Given the description of an element on the screen output the (x, y) to click on. 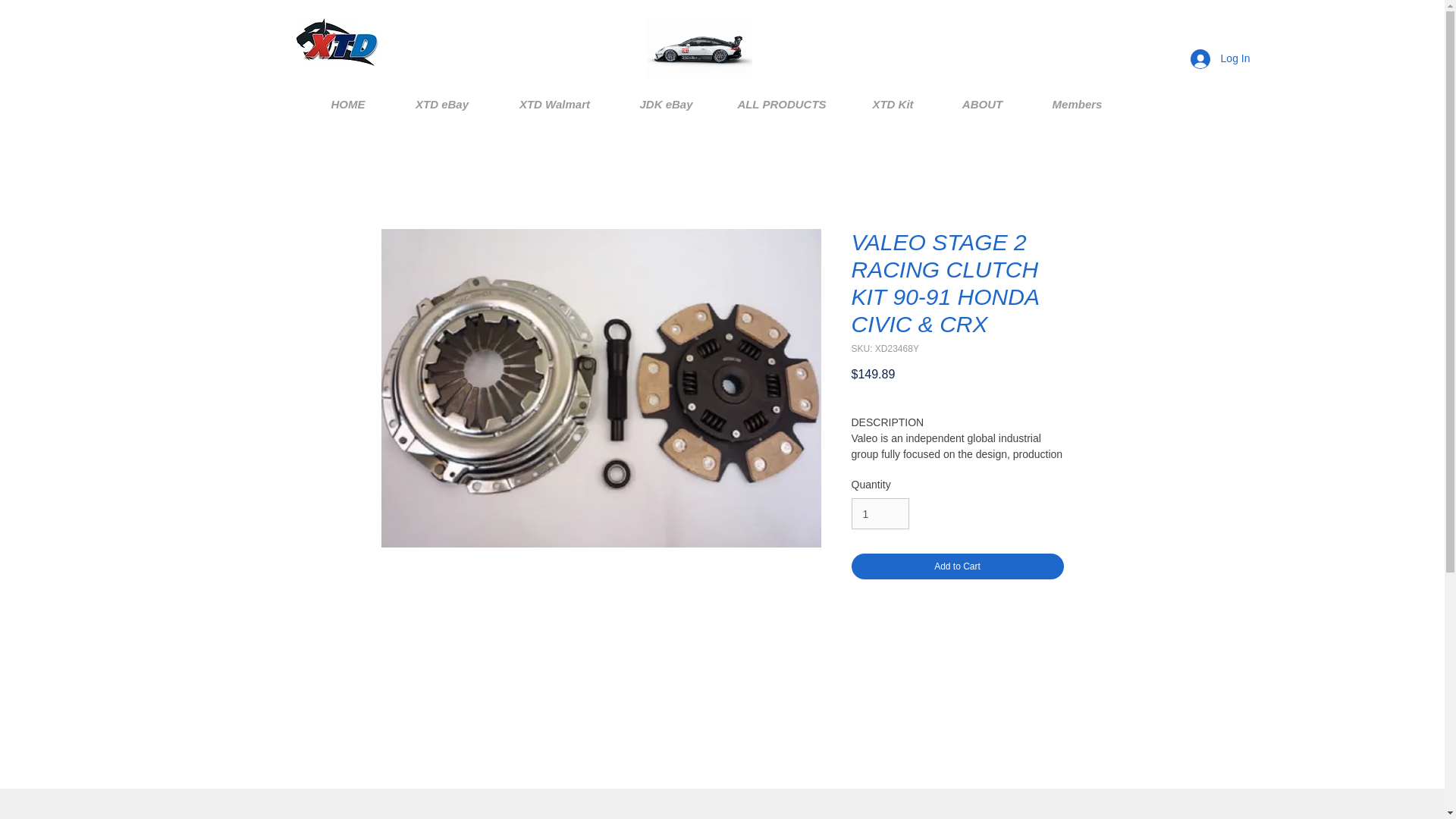
JDK eBay (665, 104)
HOME (347, 104)
ALL PRODUCTS (781, 104)
XTD Walmart (554, 104)
Members (1077, 104)
1 (879, 513)
Log In (1219, 59)
XTD eBay (442, 104)
ABOUT (982, 104)
Add to Cart (956, 566)
